Given the description of an element on the screen output the (x, y) to click on. 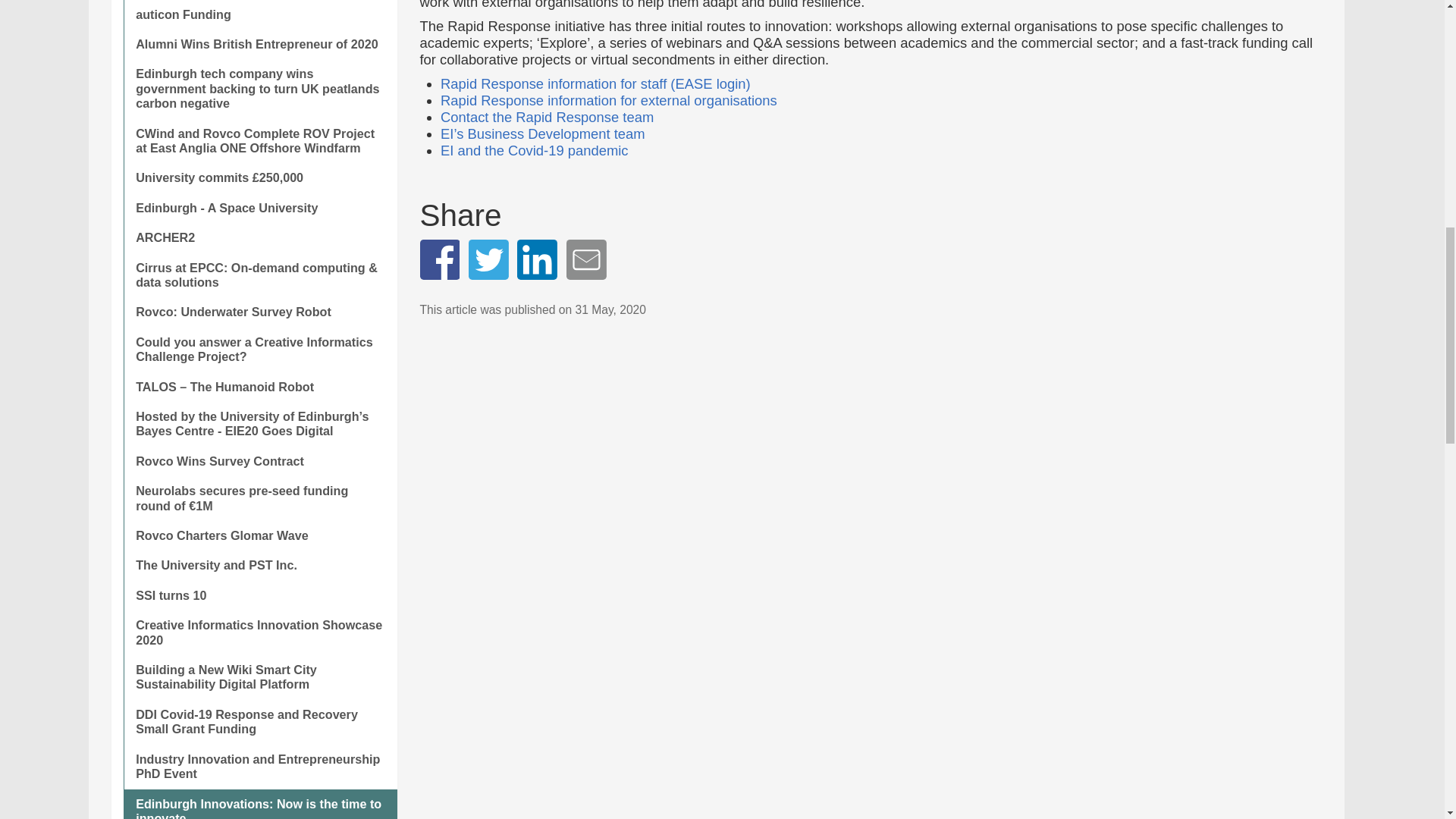
Industry Innovation and Entrepreneurship PhD Event (259, 766)
Could you answer a Creative Informatics Challenge Project? (259, 349)
SSI turns 10 (259, 595)
DDI Covid-19 Response and Recovery Small Grant Funding (259, 722)
Edinburgh - A Space University (259, 207)
Rovco: Underwater Survey Robot (259, 311)
The University and PST Inc. (259, 564)
Rovco Charters Glomar Wave (259, 535)
auticon Funding (259, 14)
ARCHER2 (259, 237)
Creative Informatics Innovation Showcase 2020 (259, 632)
Alumni Wins British Entrepreneur of 2020 (259, 43)
